Given the description of an element on the screen output the (x, y) to click on. 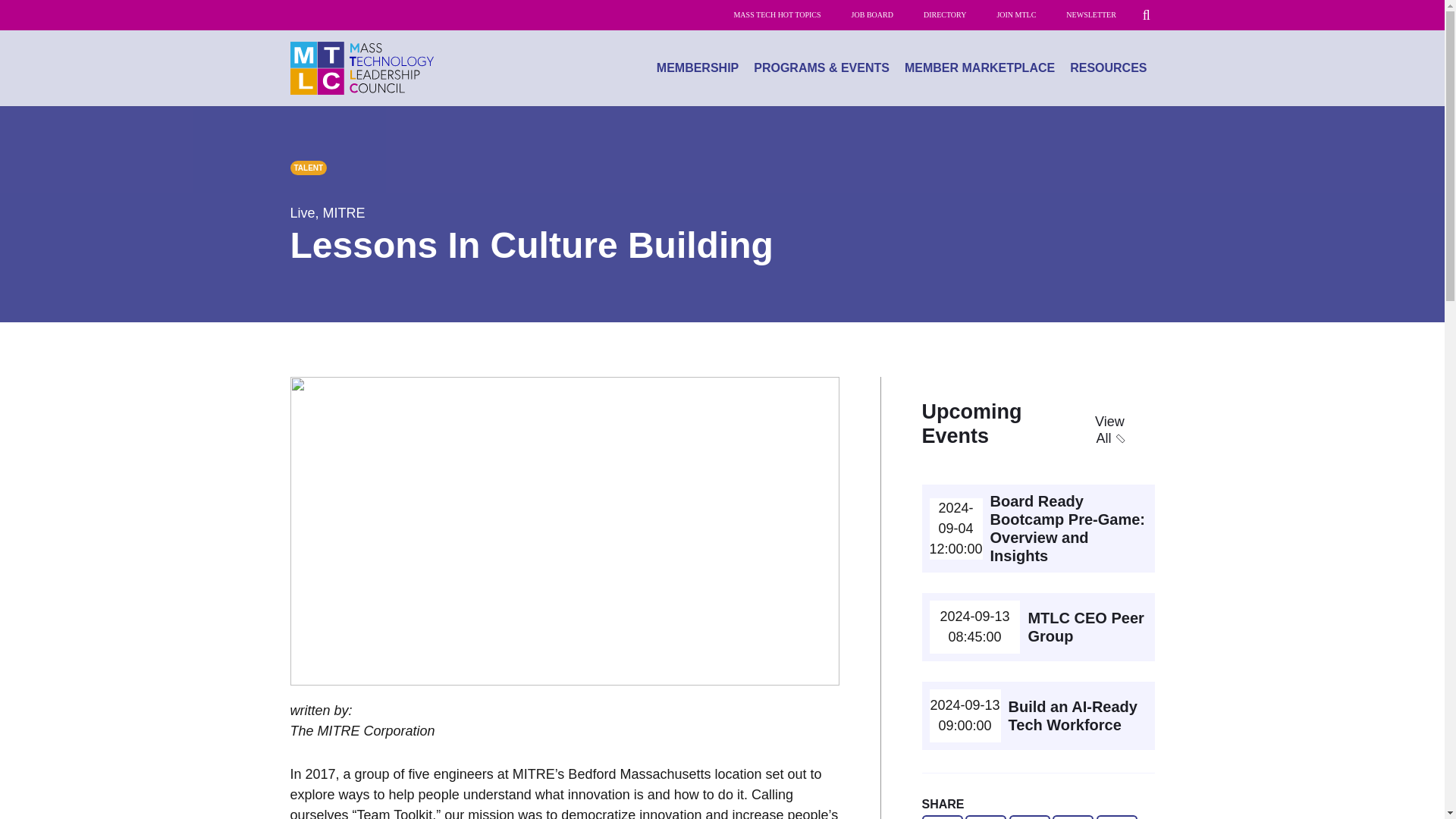
MASS TECH HOT TOPICS (776, 15)
DIRECTORY (944, 15)
JOB BOARD (871, 15)
JOIN MTLC (1016, 15)
Tweet this (985, 816)
NEWSLETTER (1091, 15)
MEMBER MARKETPLACE (979, 68)
RESOURCES (1108, 68)
Share this (1116, 816)
MEMBERSHIP (697, 68)
